Given the description of an element on the screen output the (x, y) to click on. 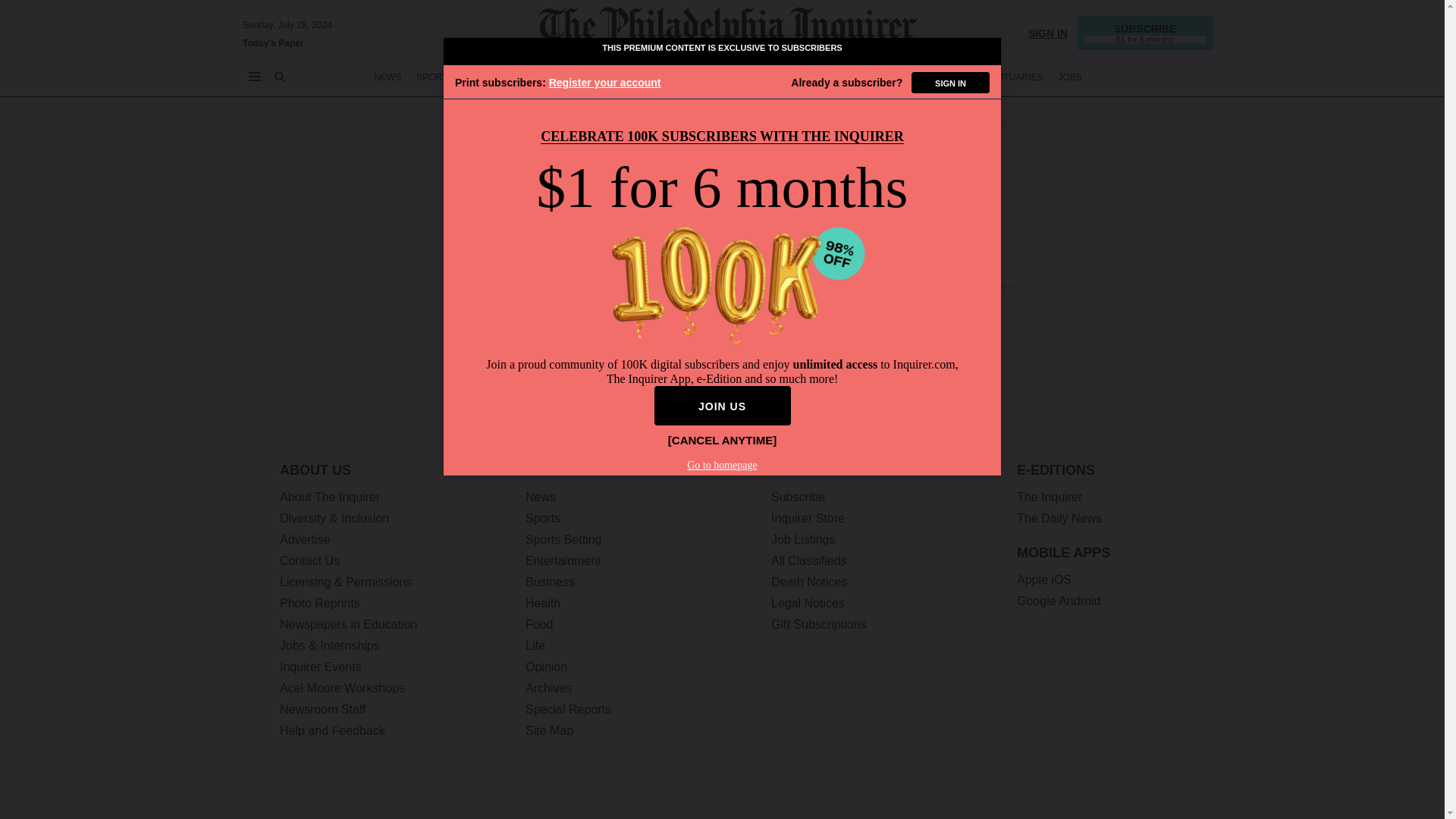
Twitter (1036, 790)
Facebook (1076, 790)
Instagram (1115, 790)
